Given the description of an element on the screen output the (x, y) to click on. 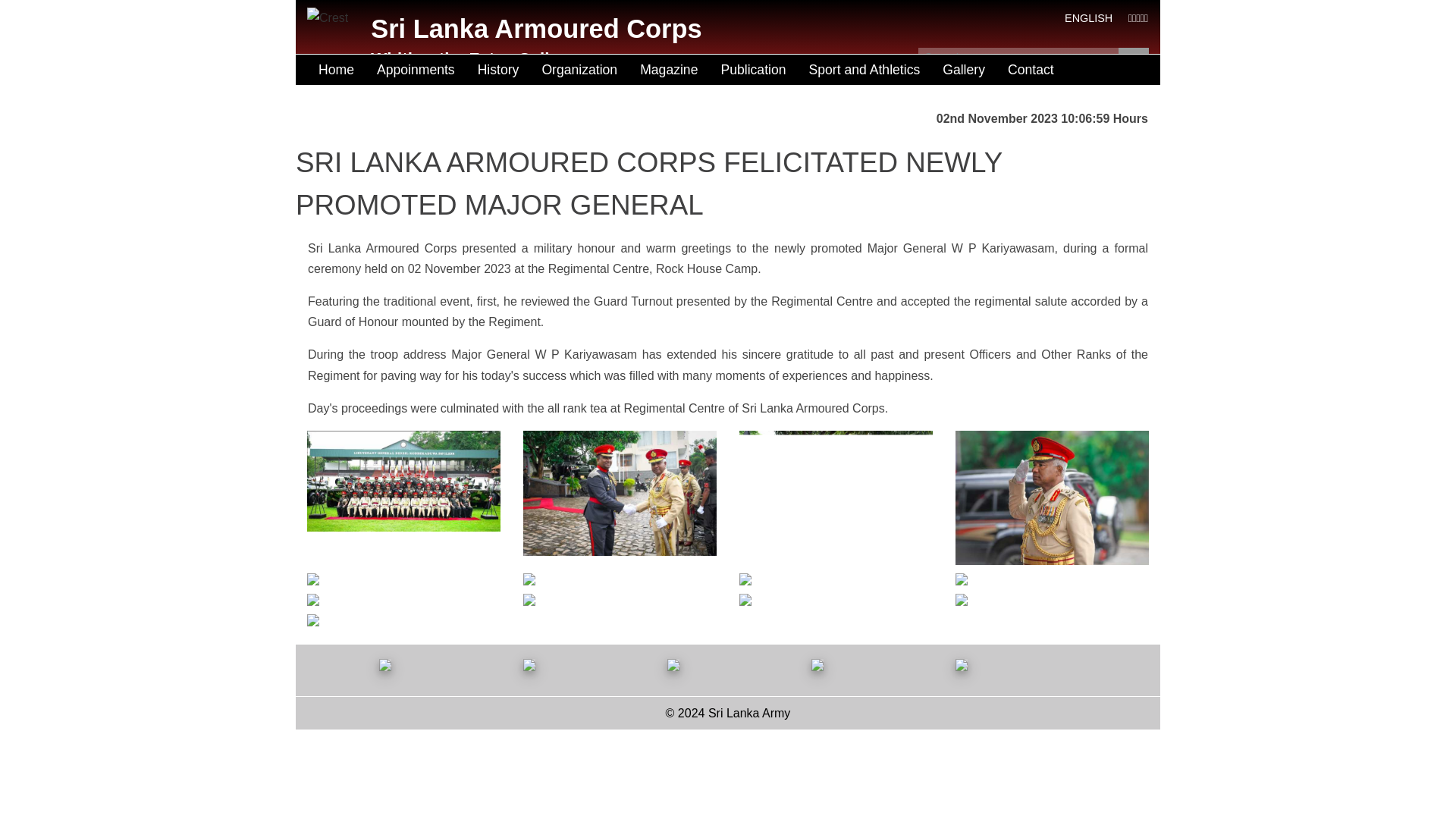
Contact (1030, 69)
Appoinments (415, 69)
Home (336, 69)
Magazine (668, 69)
Publication (752, 69)
Organization (578, 69)
Sport and Athletics (864, 69)
ENGLISH (1088, 18)
History (498, 69)
Gallery (963, 69)
